Given the description of an element on the screen output the (x, y) to click on. 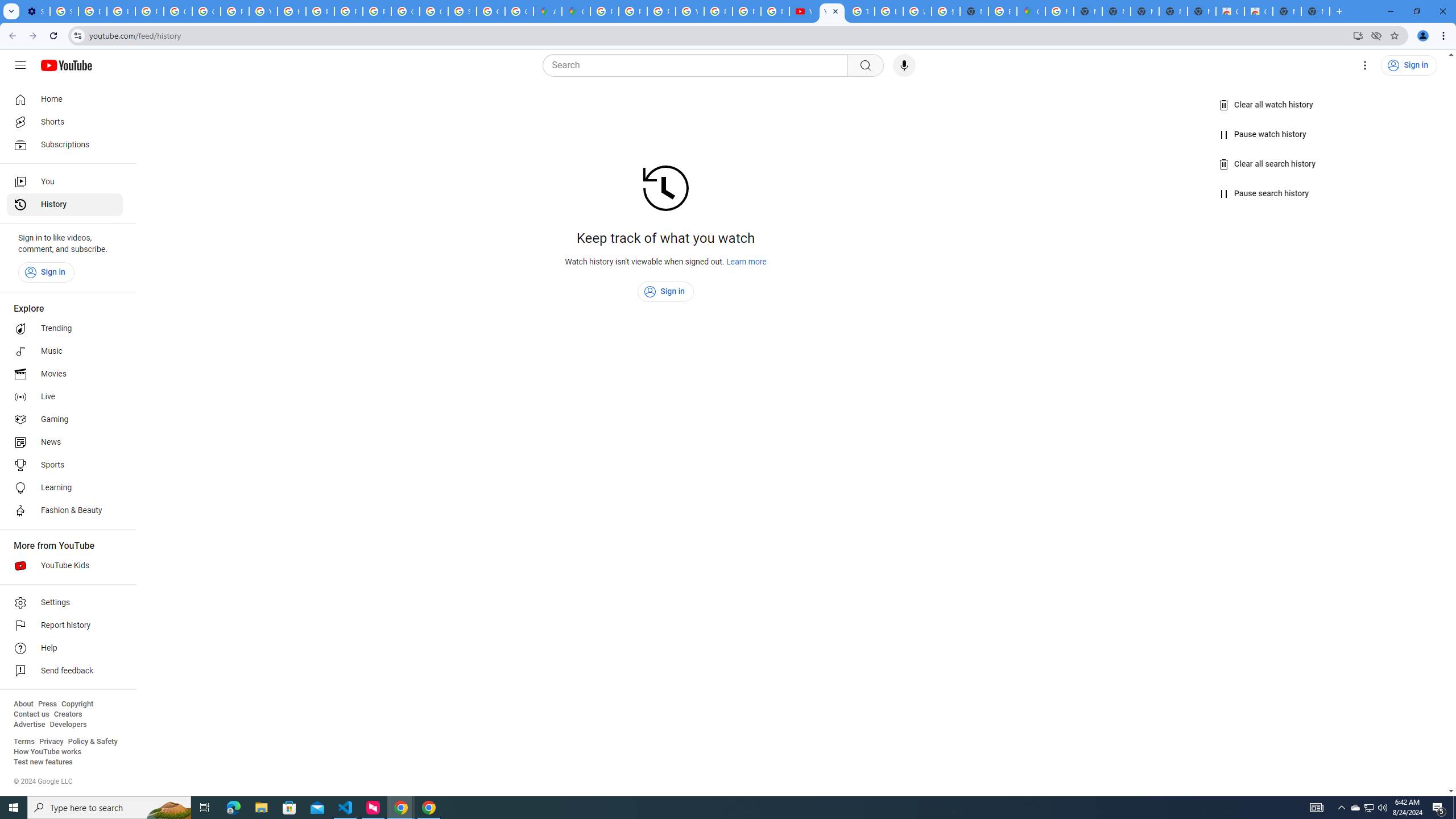
Sign in - Google Accounts (461, 11)
Clear all watch history (1266, 105)
Pause search history (1264, 193)
Settings - On startup (35, 11)
Privacy Checkup (774, 11)
Sports (64, 464)
Privacy Help Center - Policies Help (661, 11)
Google Maps (1030, 11)
Clear all search history (1267, 163)
Copyright (77, 703)
